Given the description of an element on the screen output the (x, y) to click on. 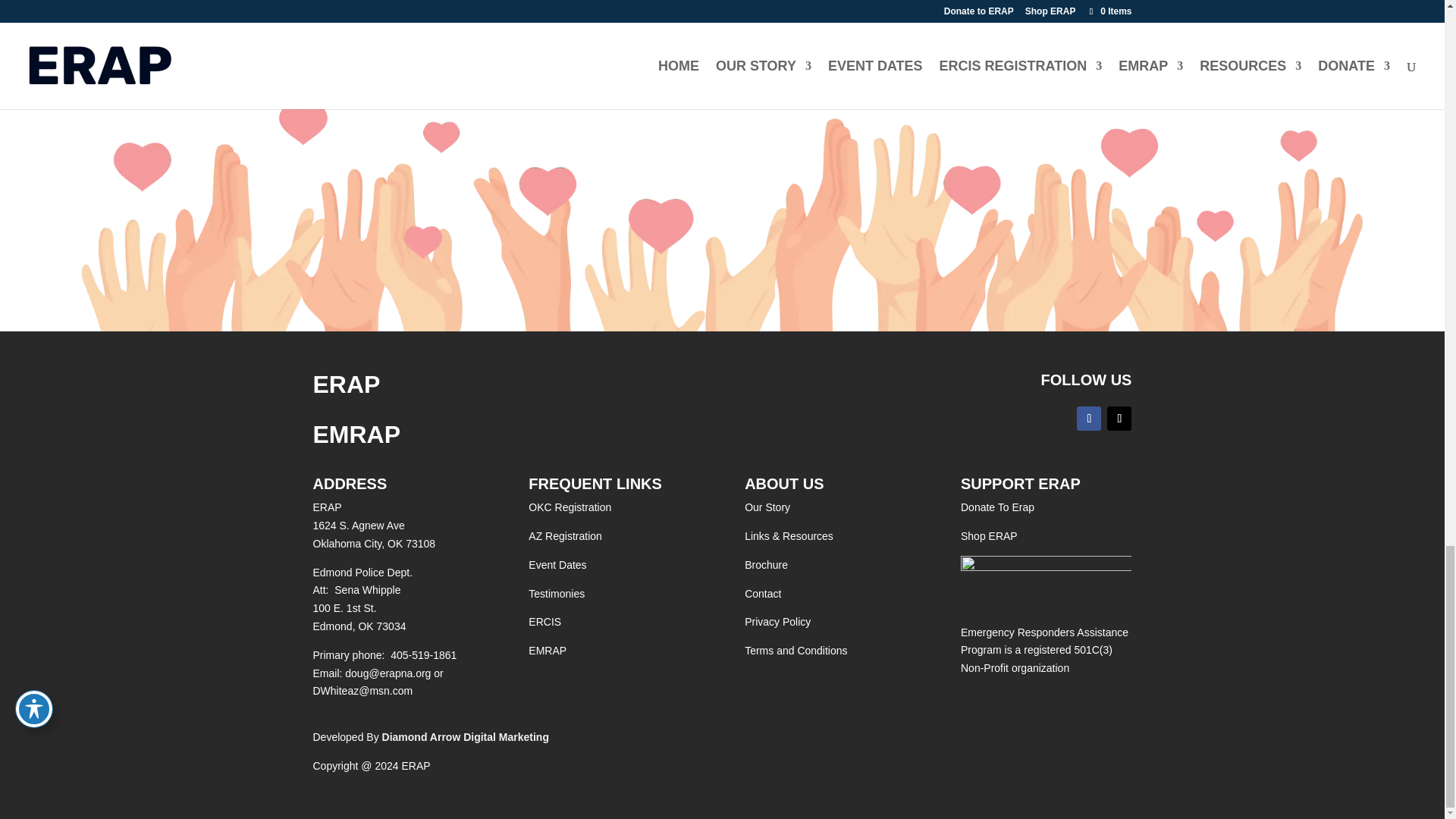
AZ Registration (564, 535)
Event Dates (557, 564)
Follow on Facebook (1088, 418)
Our Story (767, 507)
Terms and Conditions (795, 650)
Testimonies (556, 593)
amazon-smile-logo (1045, 578)
Brochure (765, 564)
Follow on X (1118, 418)
Privacy Policy (777, 621)
